Given the description of an element on the screen output the (x, y) to click on. 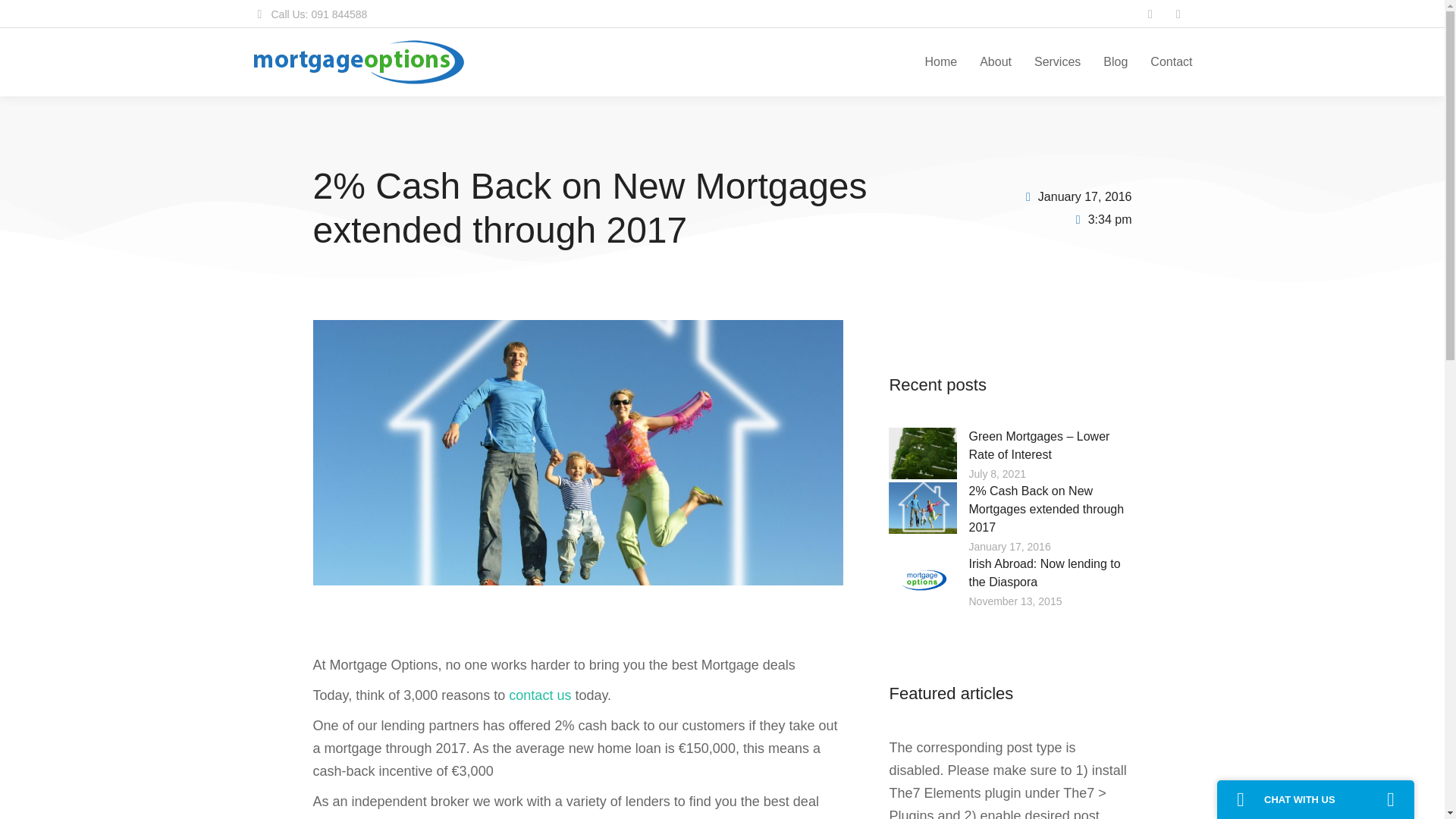
January 17, 2016 (1074, 196)
Linkedin page opens in new window (1178, 13)
Facebook page opens in new window (1149, 13)
contact us (539, 694)
Irish Abroad: Now lending to the Diaspora (1043, 572)
Services (1056, 61)
Contact (1171, 61)
